Given the description of an element on the screen output the (x, y) to click on. 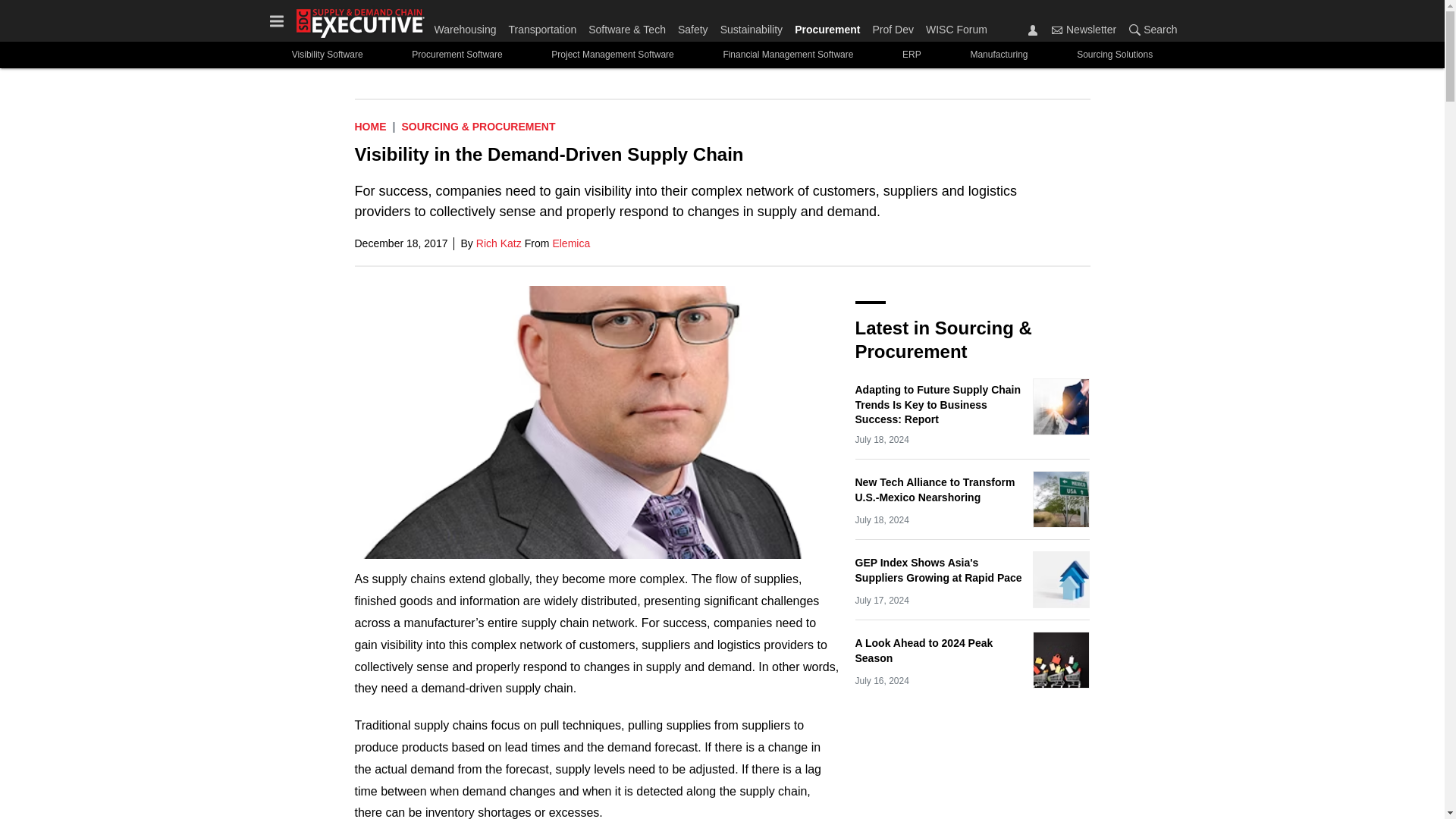
Project Management Software (612, 54)
Newsletter (1083, 29)
ERP (911, 54)
Search (1134, 29)
Search (1149, 29)
Visibility Software (326, 54)
Transportation (542, 26)
Prof Dev (892, 26)
WISC Forum (953, 26)
Procurement Software (457, 54)
Manufacturing (999, 54)
Procurement (827, 26)
Sourcing Solutions (1115, 54)
Home (371, 126)
Newsletter (1056, 29)
